Given the description of an element on the screen output the (x, y) to click on. 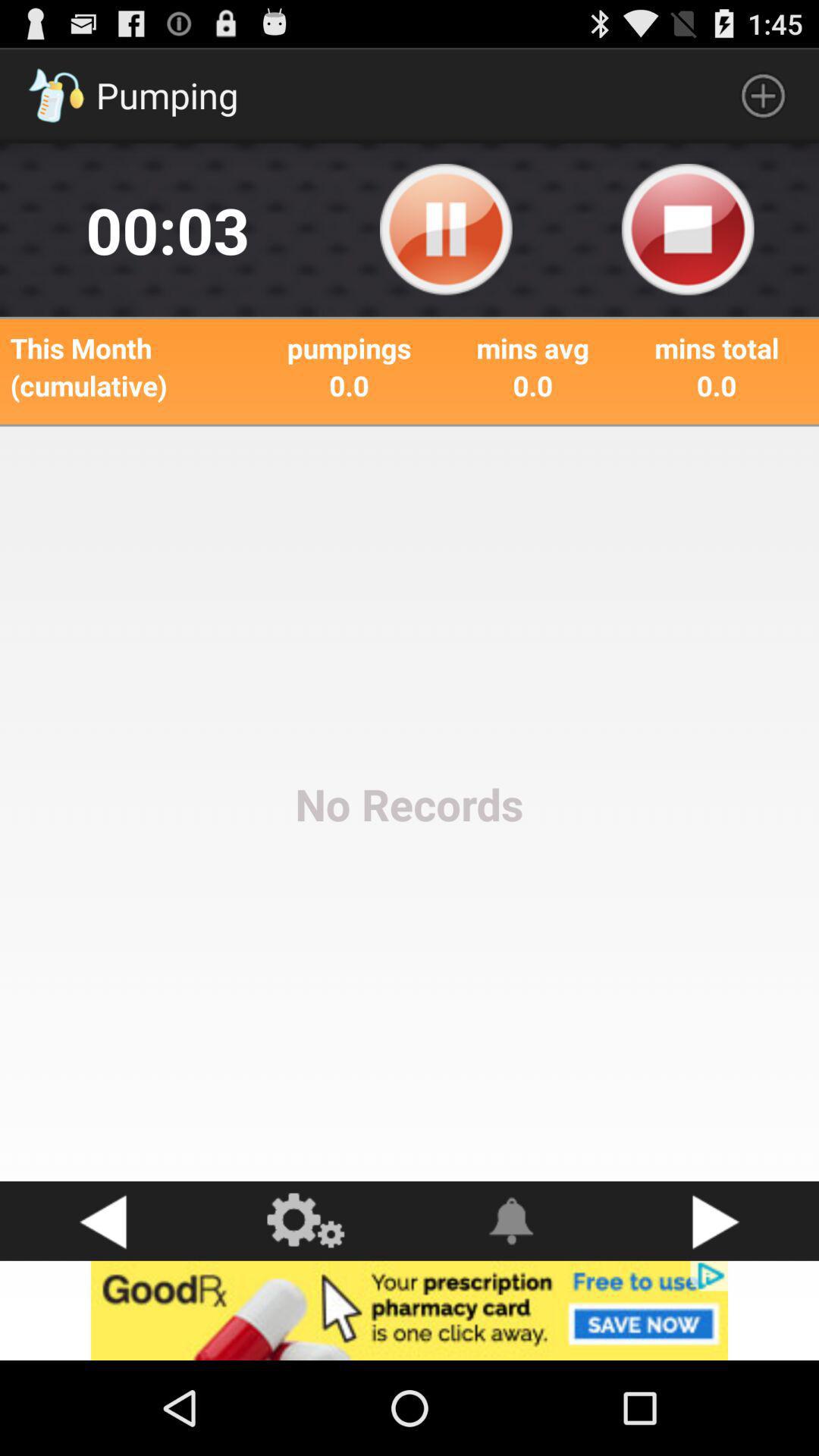
bel button (511, 1220)
